Given the description of an element on the screen output the (x, y) to click on. 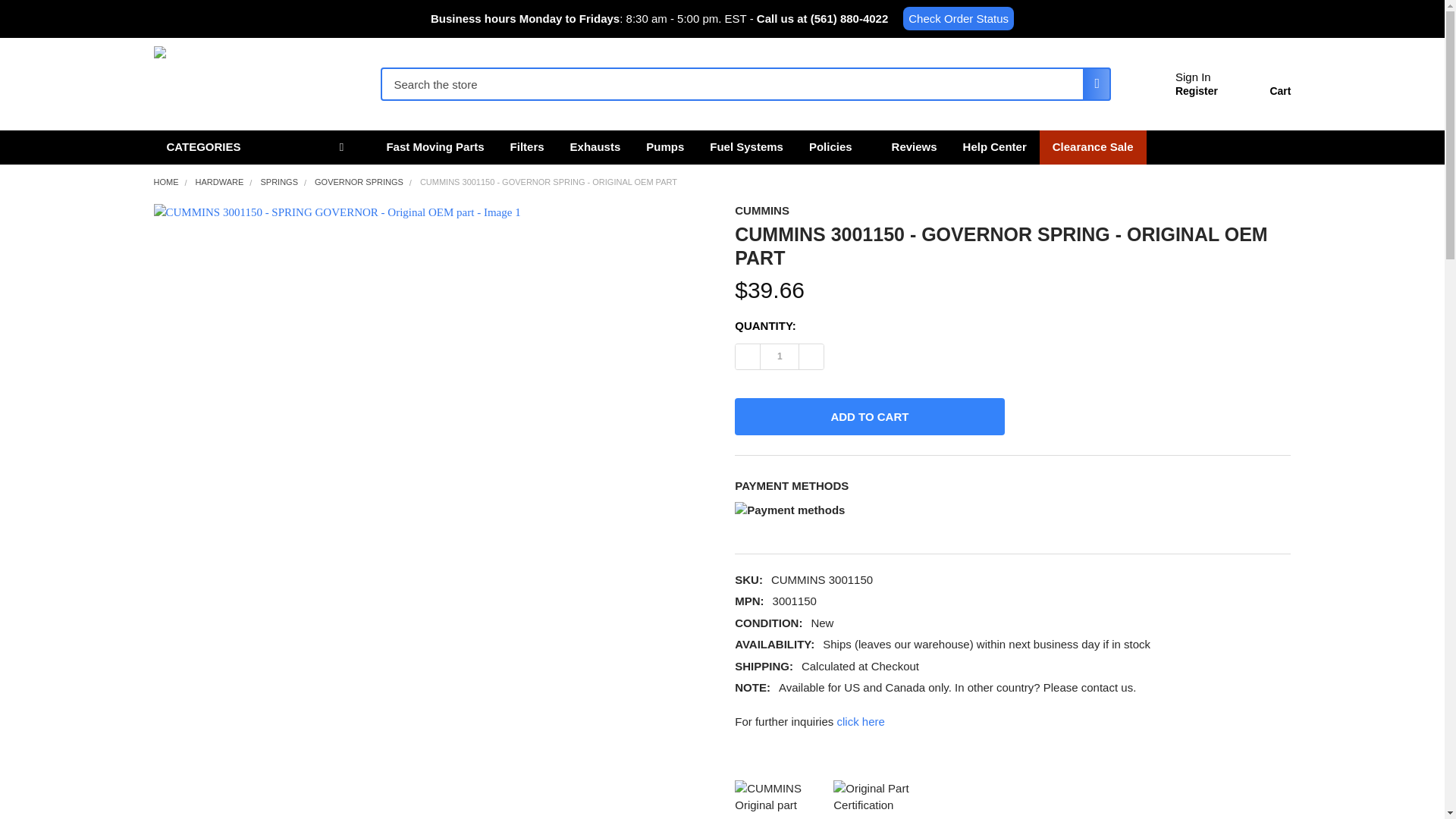
Payment Methods (871, 513)
Register (1195, 91)
1 (778, 356)
Check Order Status (957, 18)
Search (1092, 83)
Search (1092, 83)
Sign In (1192, 77)
CUMMINS Original part (780, 797)
Add to Cart (869, 416)
Cart (1262, 86)
